Given the description of an element on the screen output the (x, y) to click on. 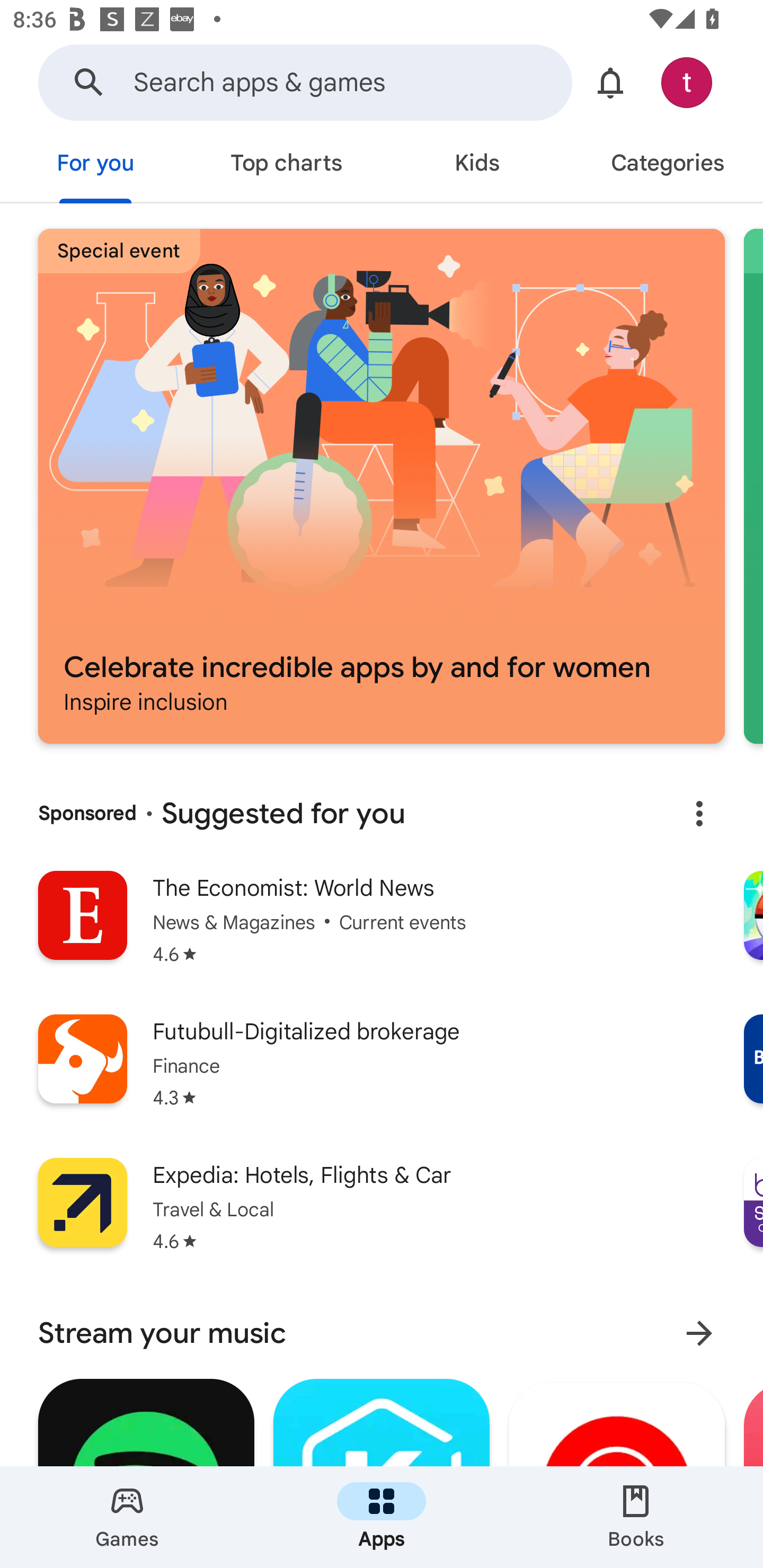
Search Google Play Search apps & games (305, 81)
Search Google Play (89, 81)
Show notifications and offers. (610, 81)
Top charts (285, 165)
Kids (476, 165)
Categories (667, 165)
About this ad (699, 813)
More results for Stream your music (699, 1333)
Games (127, 1517)
Books (635, 1517)
